Given the description of an element on the screen output the (x, y) to click on. 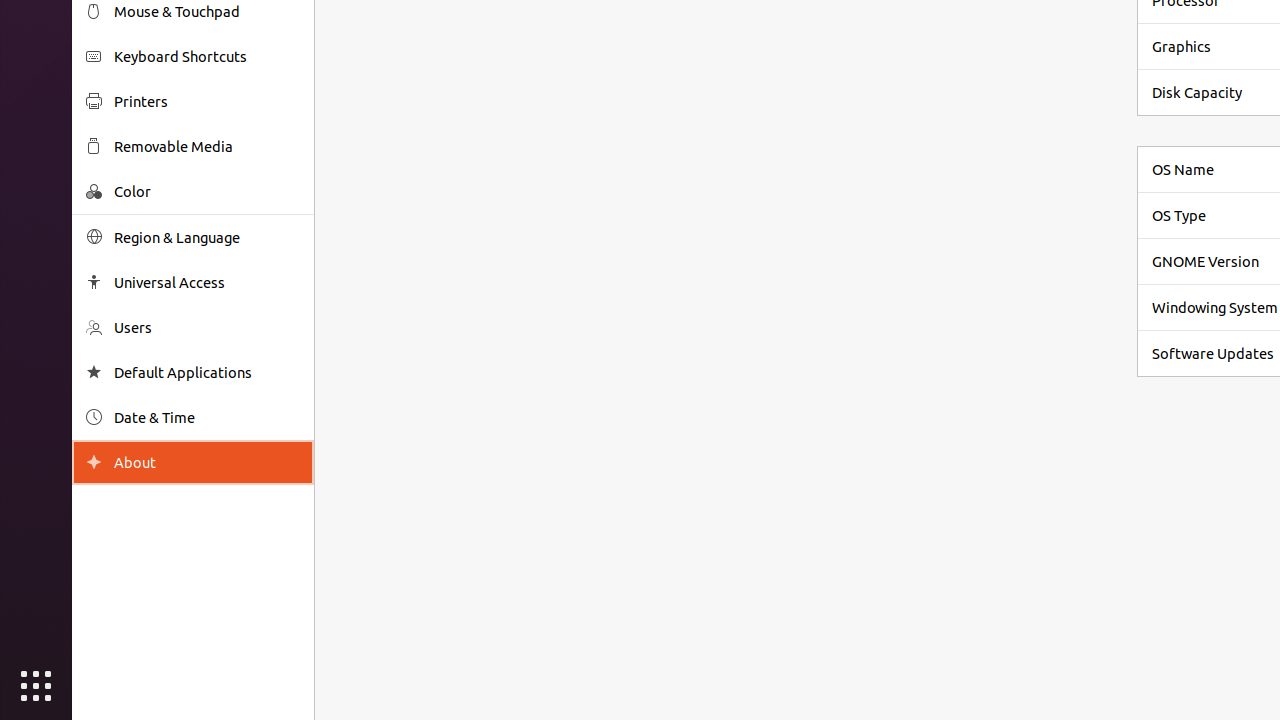
Color Element type: label (207, 191)
Printers Element type: label (207, 101)
Mouse & Touchpad Element type: label (207, 11)
Date & Time Element type: label (207, 417)
Default Applications Element type: label (207, 372)
